Given the description of an element on the screen output the (x, y) to click on. 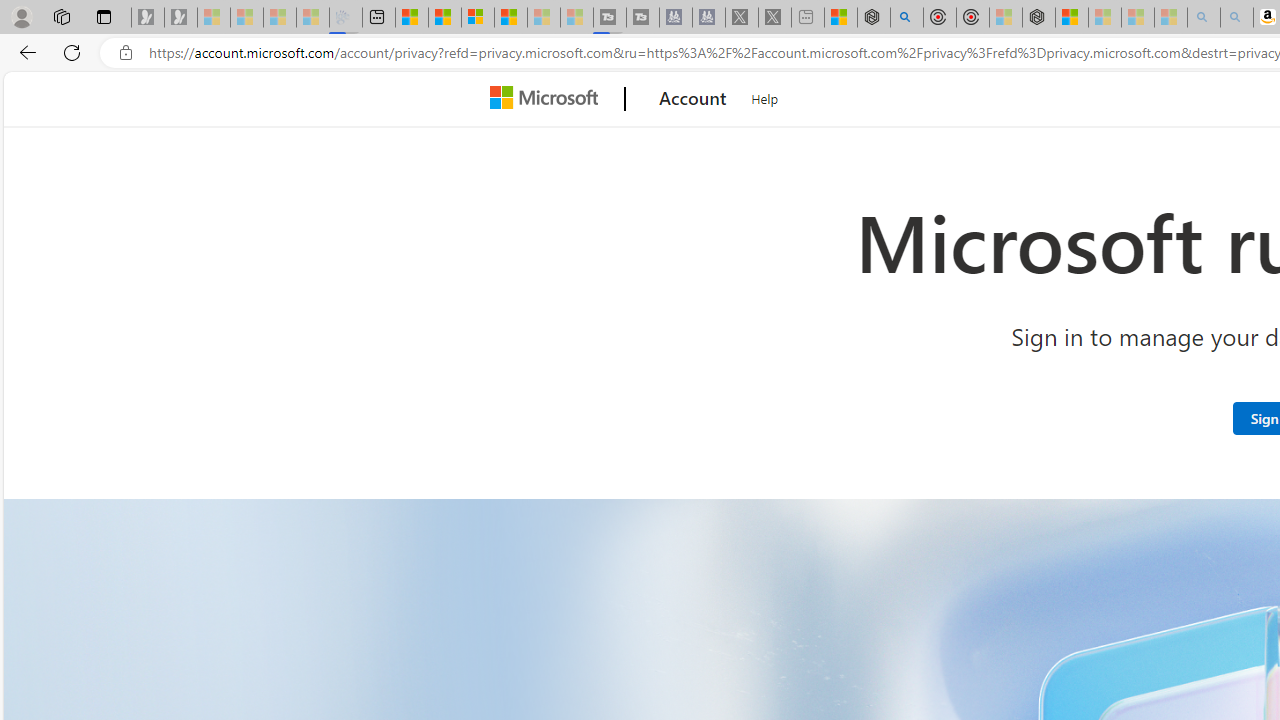
Help (765, 96)
poe - Search (906, 17)
Overview (478, 17)
